Given the description of an element on the screen output the (x, y) to click on. 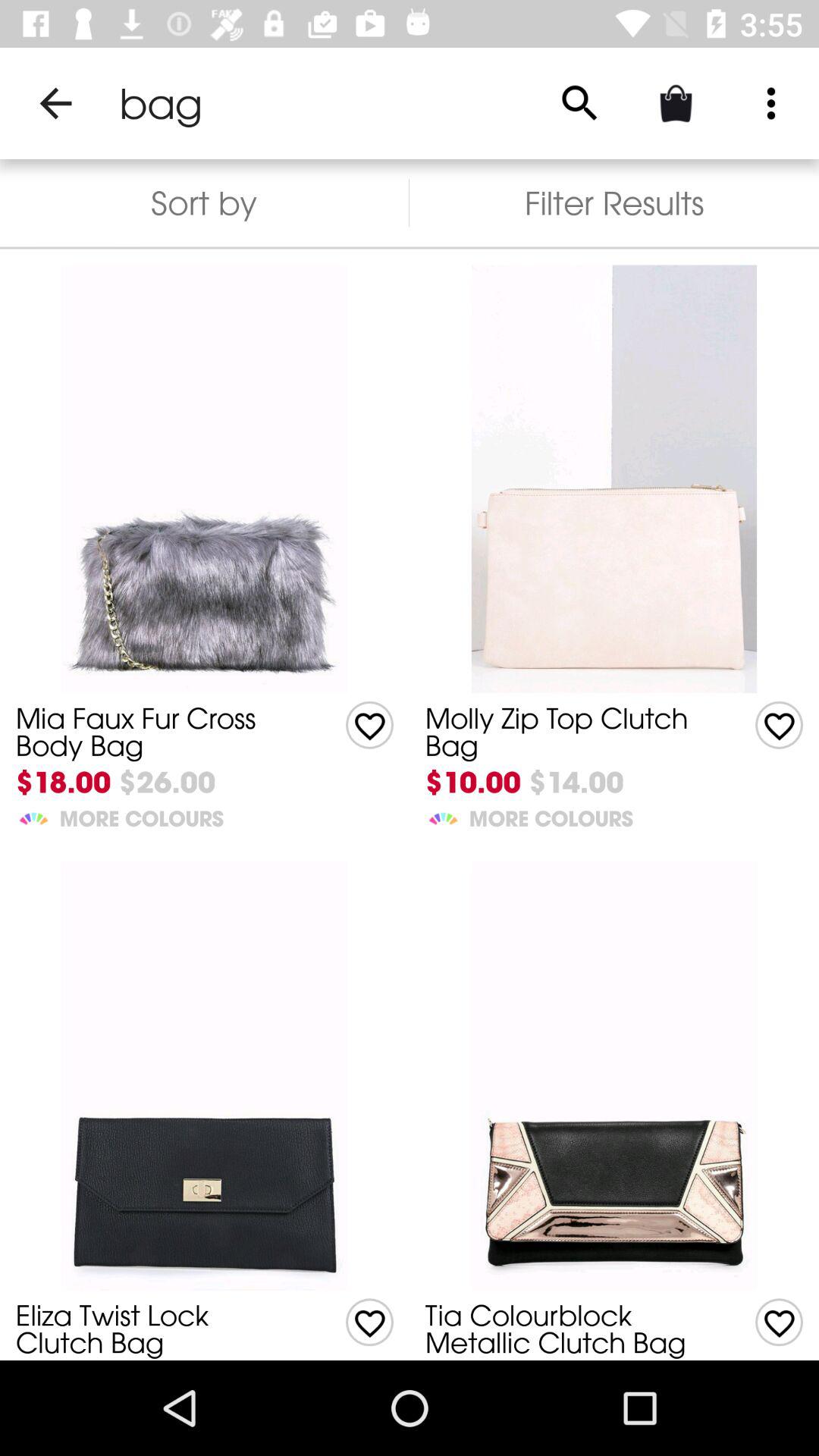
select the mia faux fur icon (157, 731)
